Given the description of an element on the screen output the (x, y) to click on. 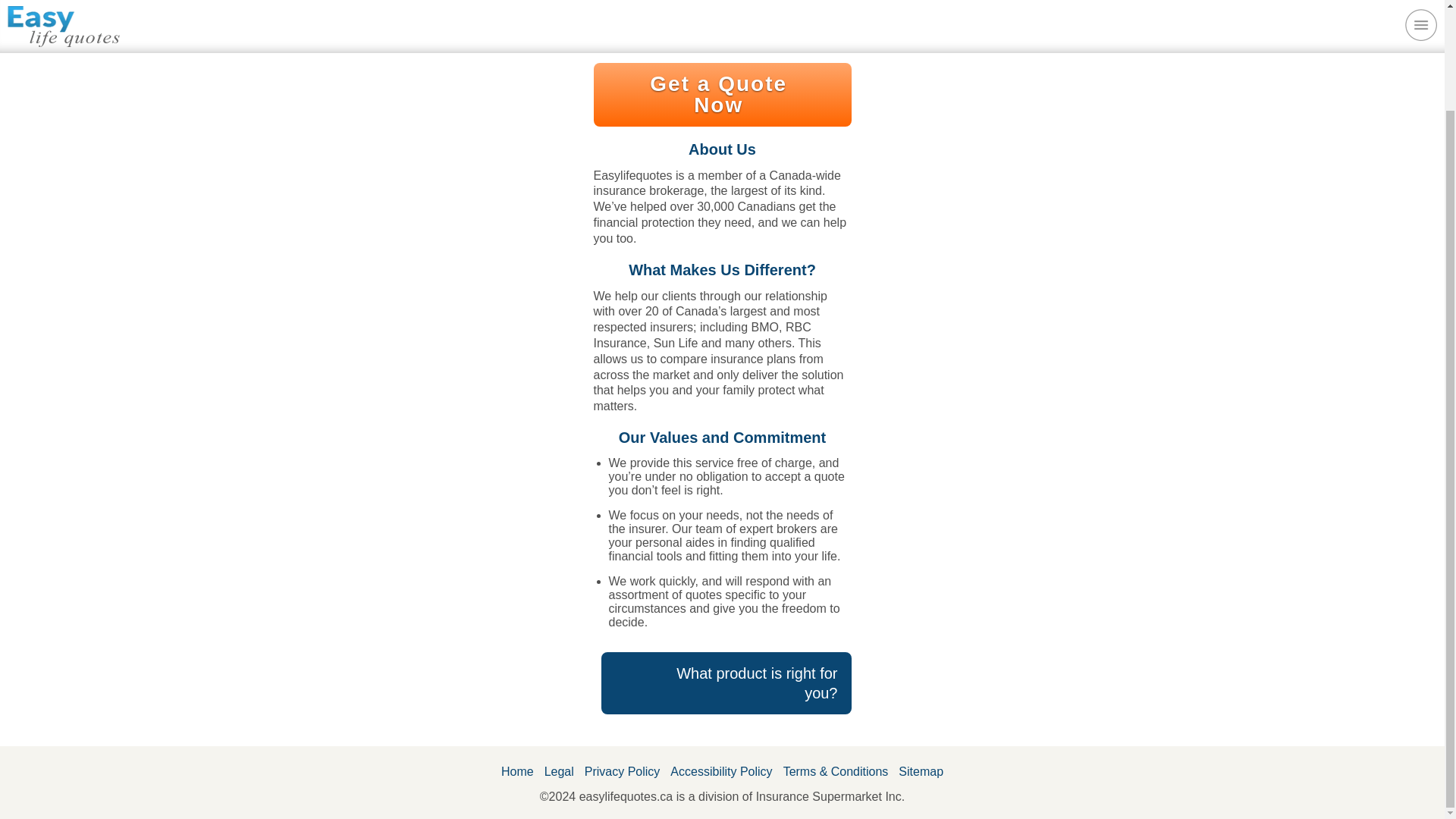
Legal (559, 771)
Privacy Policy (621, 771)
Get a Quote Now (721, 94)
Sitemap (921, 771)
Accessibility Policy (721, 771)
What product is right for you? (724, 682)
Home (517, 771)
